Given the description of an element on the screen output the (x, y) to click on. 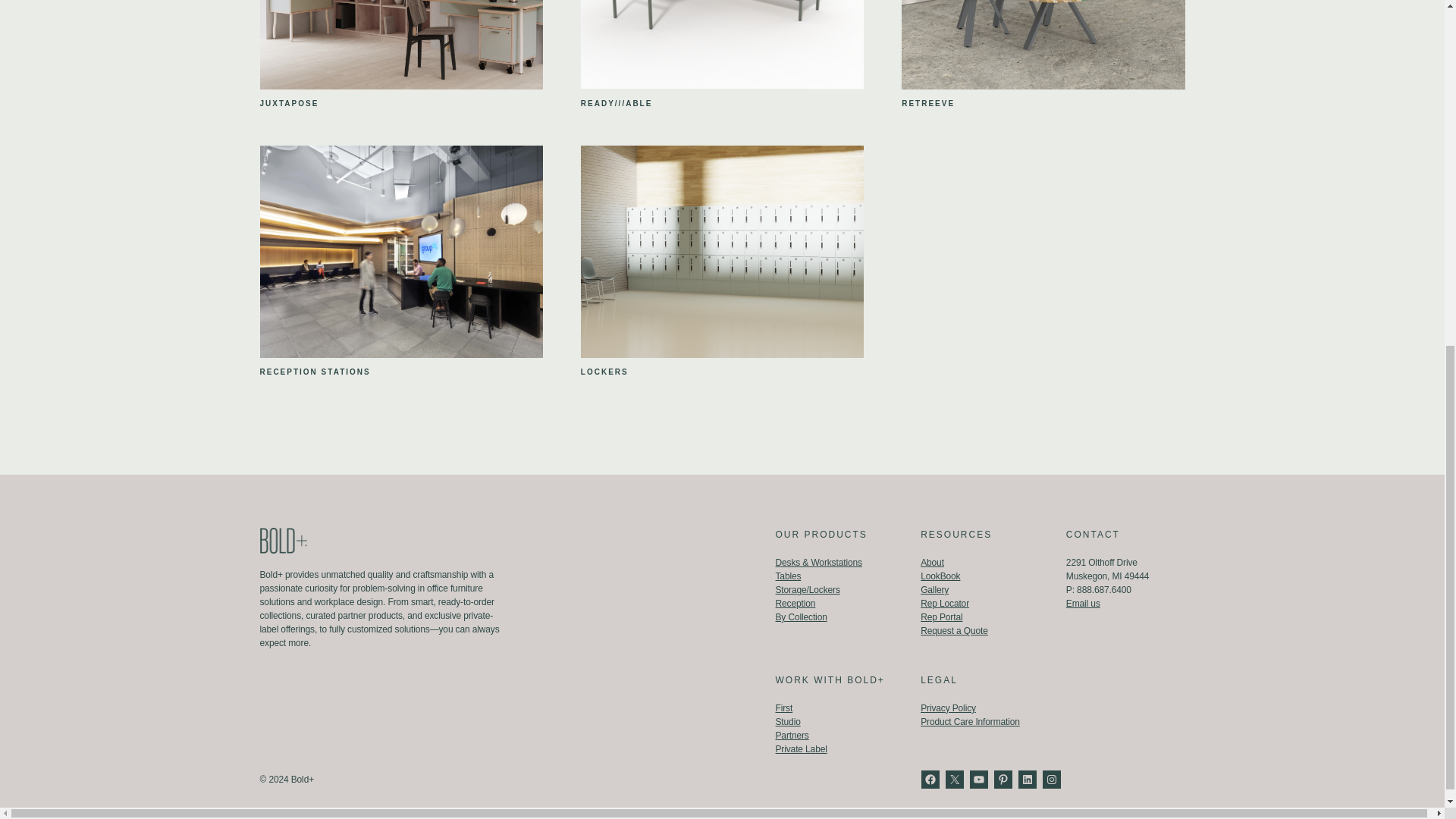
JUXTAPOSE (288, 103)
